Given the description of an element on the screen output the (x, y) to click on. 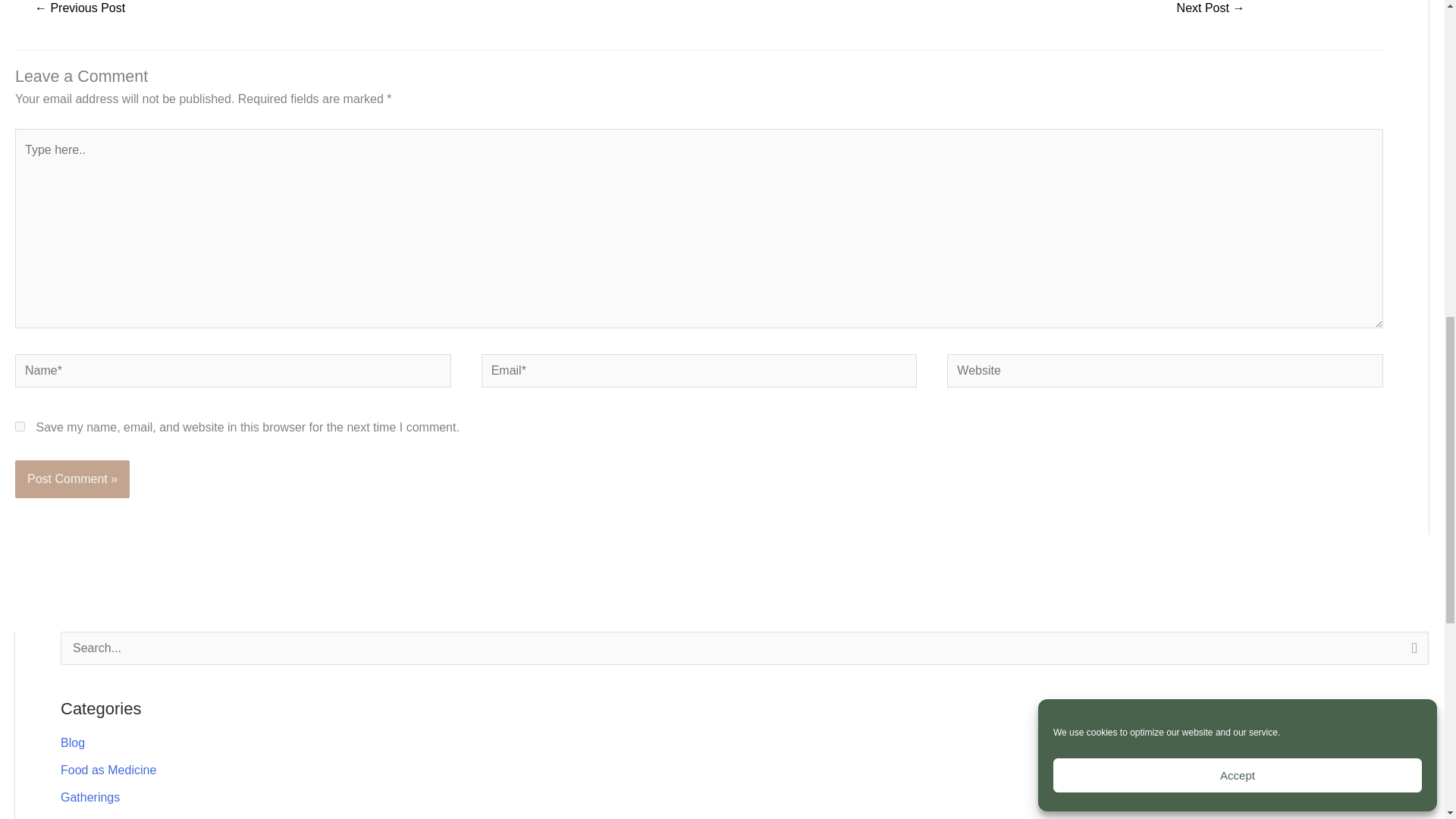
yes (19, 426)
Fermenting Ginger (1210, 11)
Food as Medicine (108, 769)
Blog (72, 742)
One Woman's Inspiration... (79, 11)
